Given the description of an element on the screen output the (x, y) to click on. 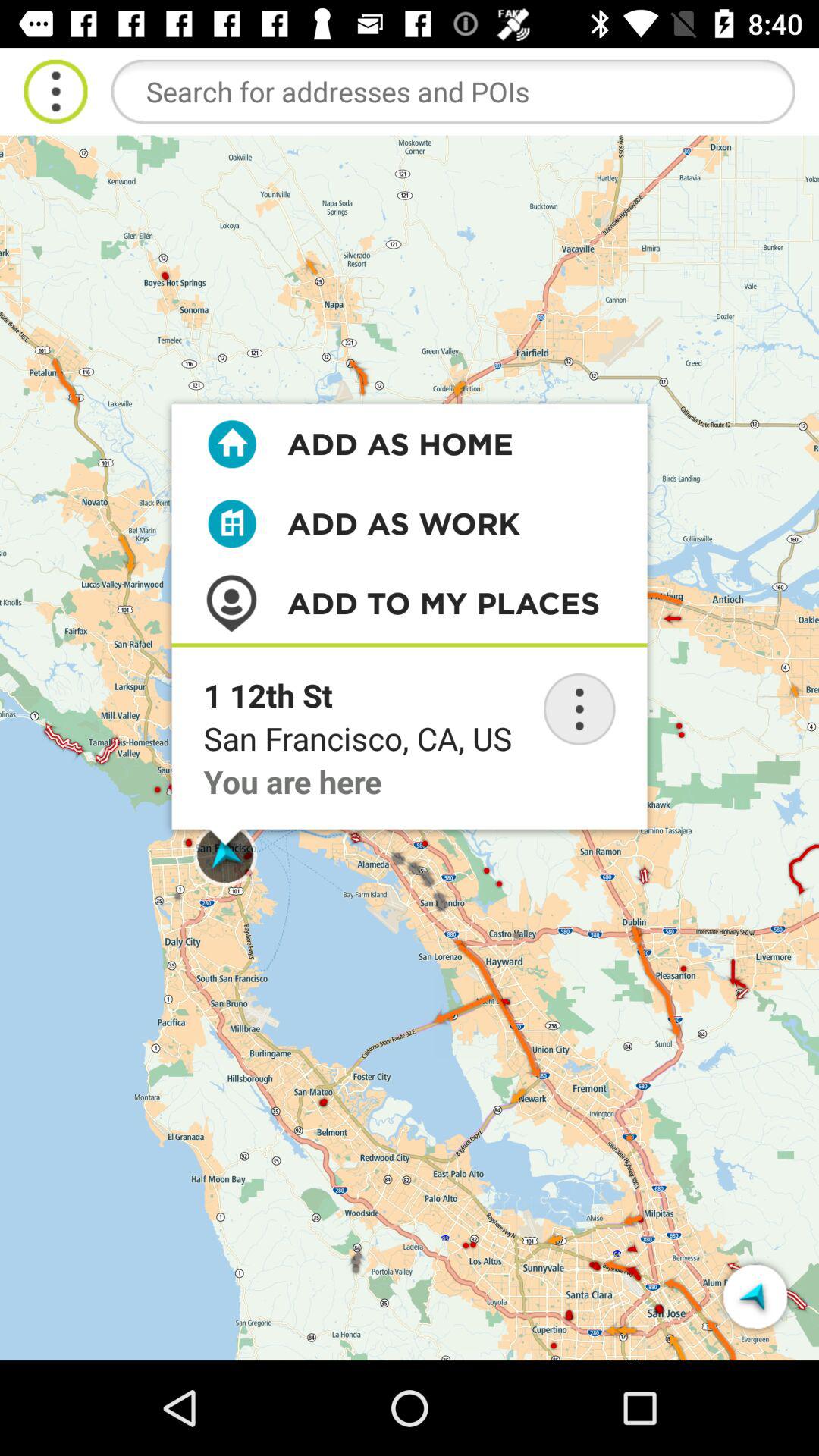
menu button (579, 709)
